Given the description of an element on the screen output the (x, y) to click on. 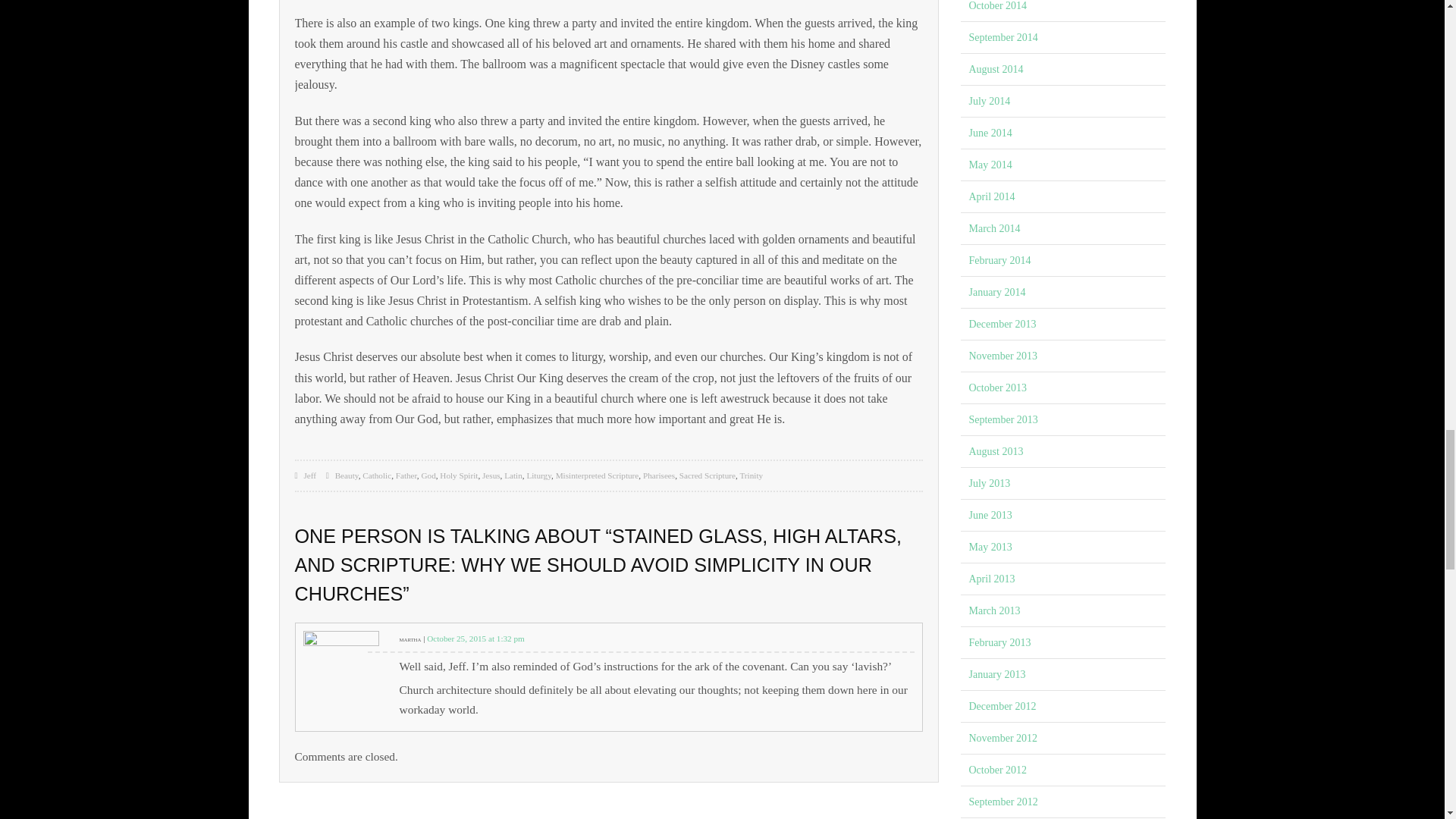
Misinterpreted Scripture (597, 474)
Holy Spirit (458, 474)
Jesus (490, 474)
Trinity (750, 474)
Father (406, 474)
Latin (512, 474)
Catholic (376, 474)
Jeff (308, 474)
Liturgy (538, 474)
October 25, 2015 at 1:32 pm (475, 637)
Pharisees (659, 474)
Sacred Scripture (707, 474)
God (427, 474)
Beauty (346, 474)
